Given the description of an element on the screen output the (x, y) to click on. 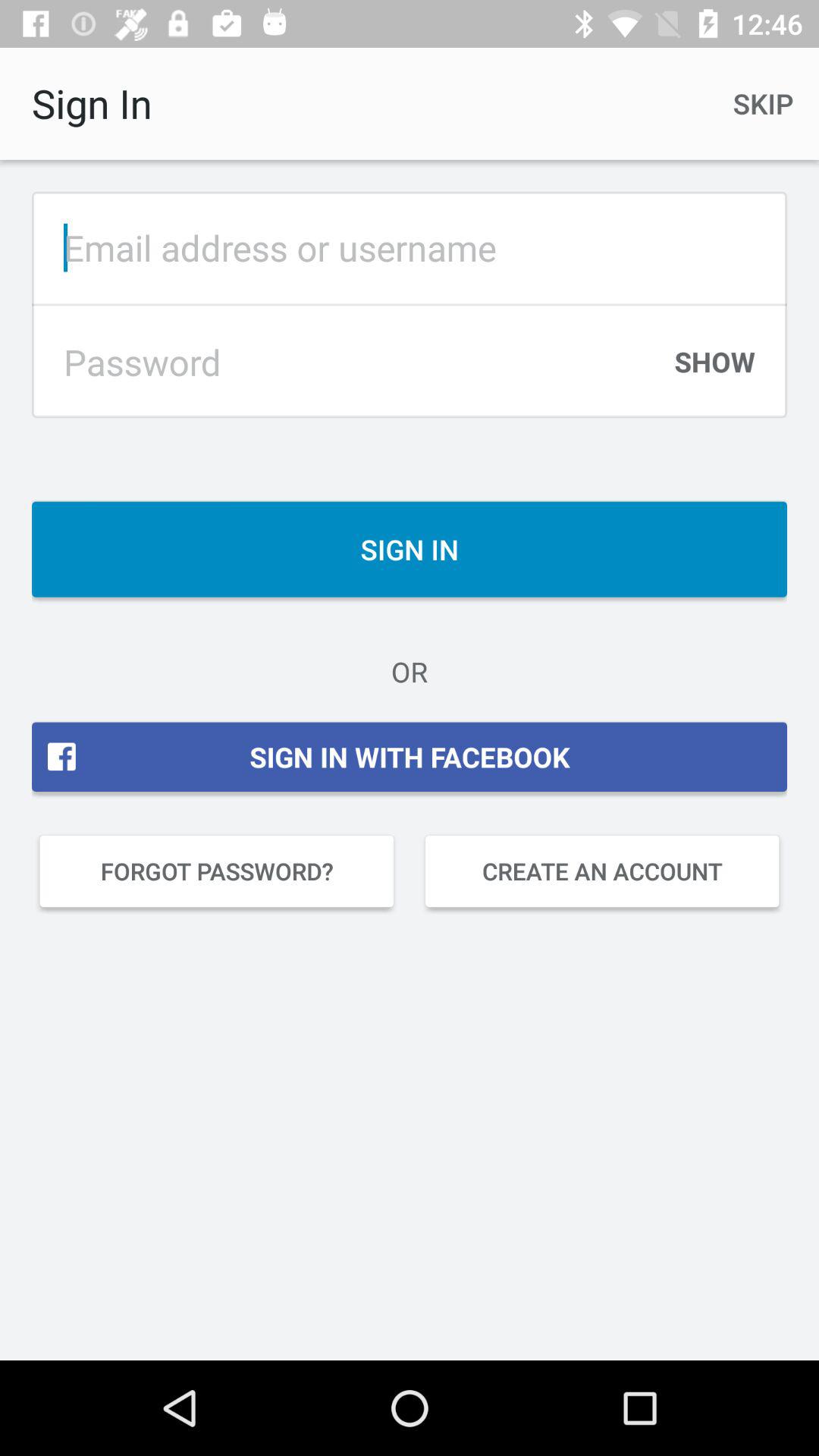
press icon to the right of the forgot password? icon (602, 871)
